Given the description of an element on the screen output the (x, y) to click on. 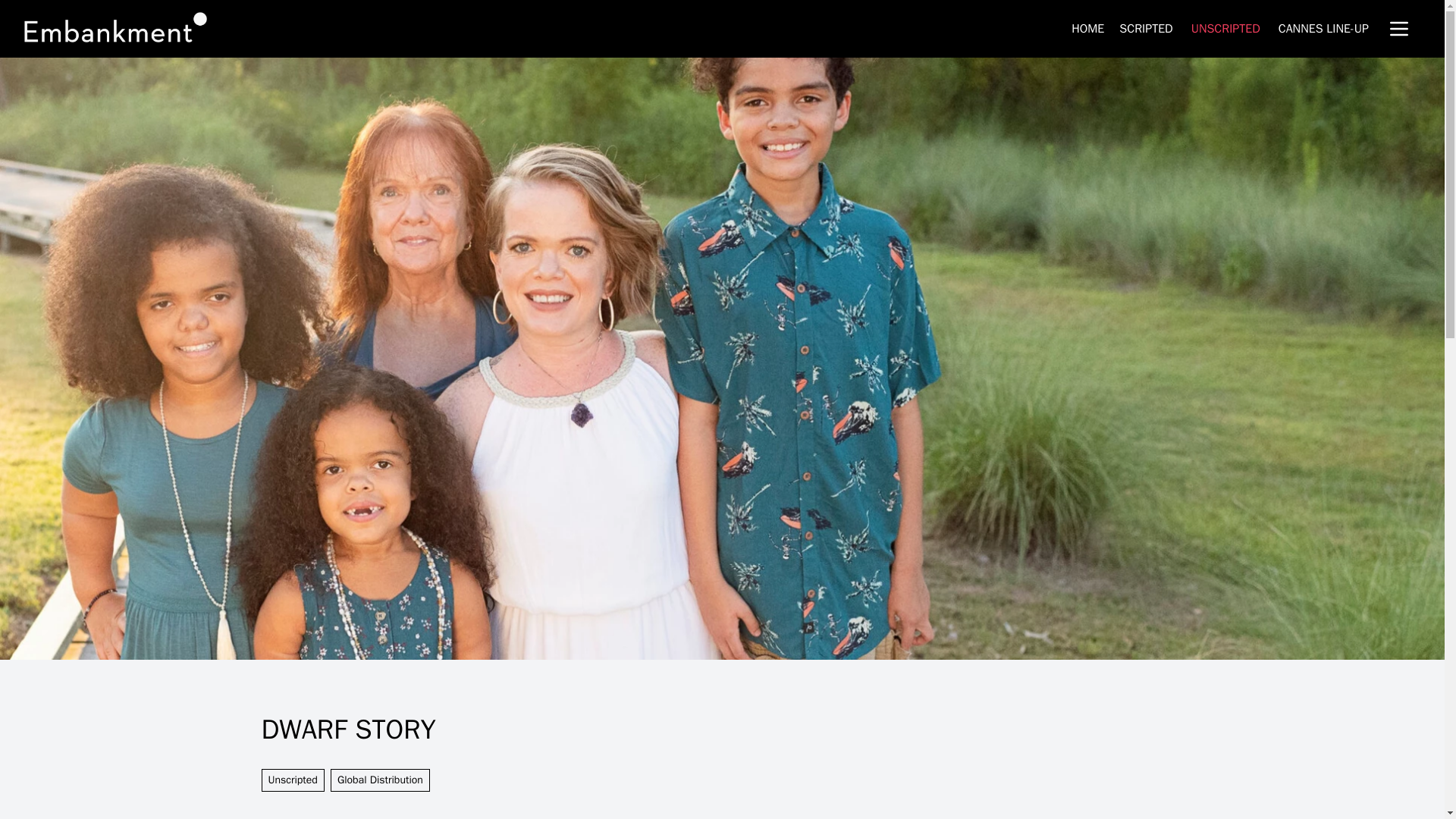
HOME (1087, 28)
UNSCRIPTED (1225, 28)
SCRIPTED (1145, 28)
Global Distribution (379, 780)
CANNES LINE-UP (1323, 28)
Unscripted (291, 780)
